Given the description of an element on the screen output the (x, y) to click on. 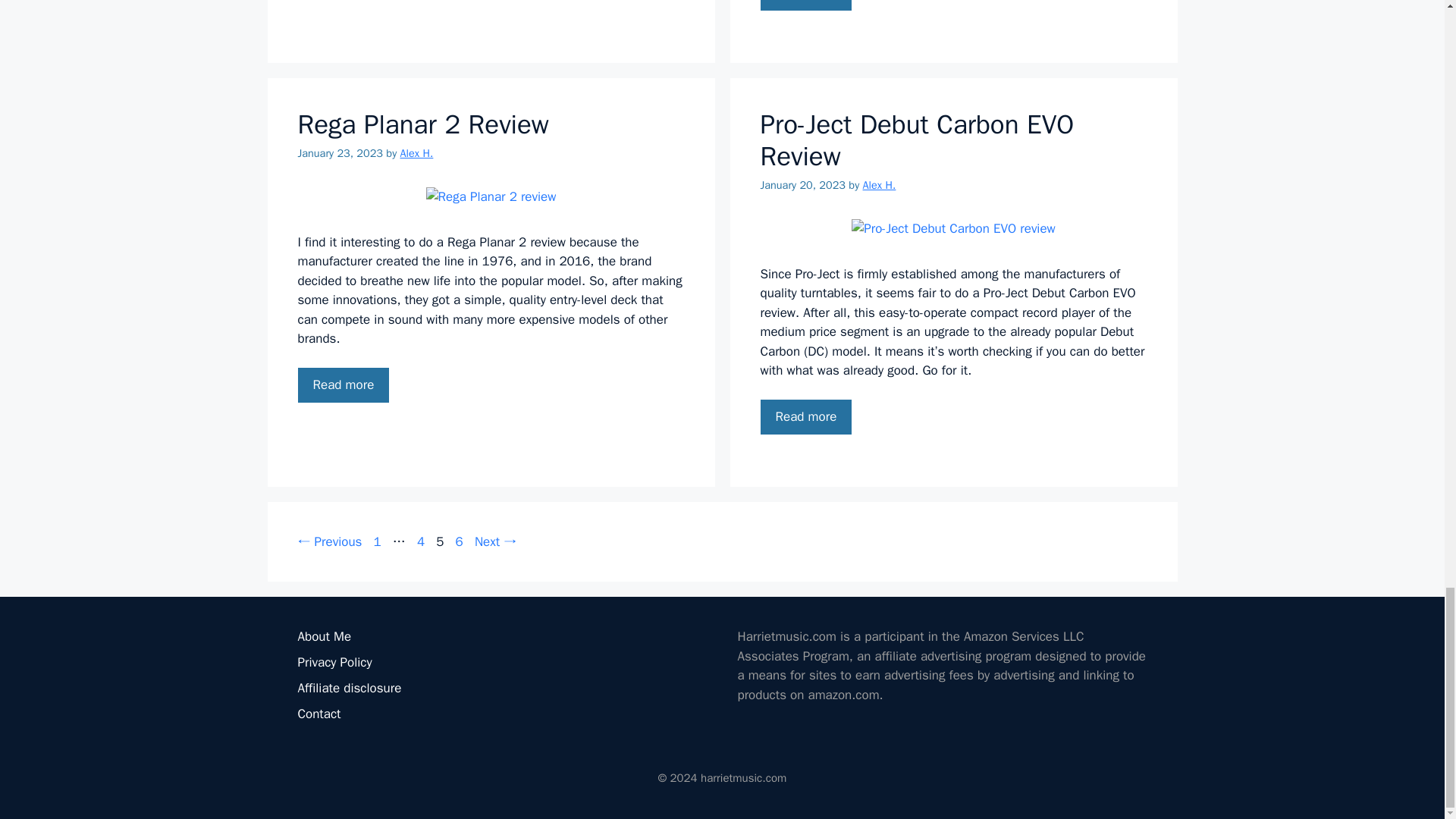
View all posts by Alex H. (416, 152)
View all posts by Alex H. (879, 184)
Sony PS-LX310BT Review (805, 5)
Rega Planar 2 Review (342, 384)
Read more (805, 5)
